Given the description of an element on the screen output the (x, y) to click on. 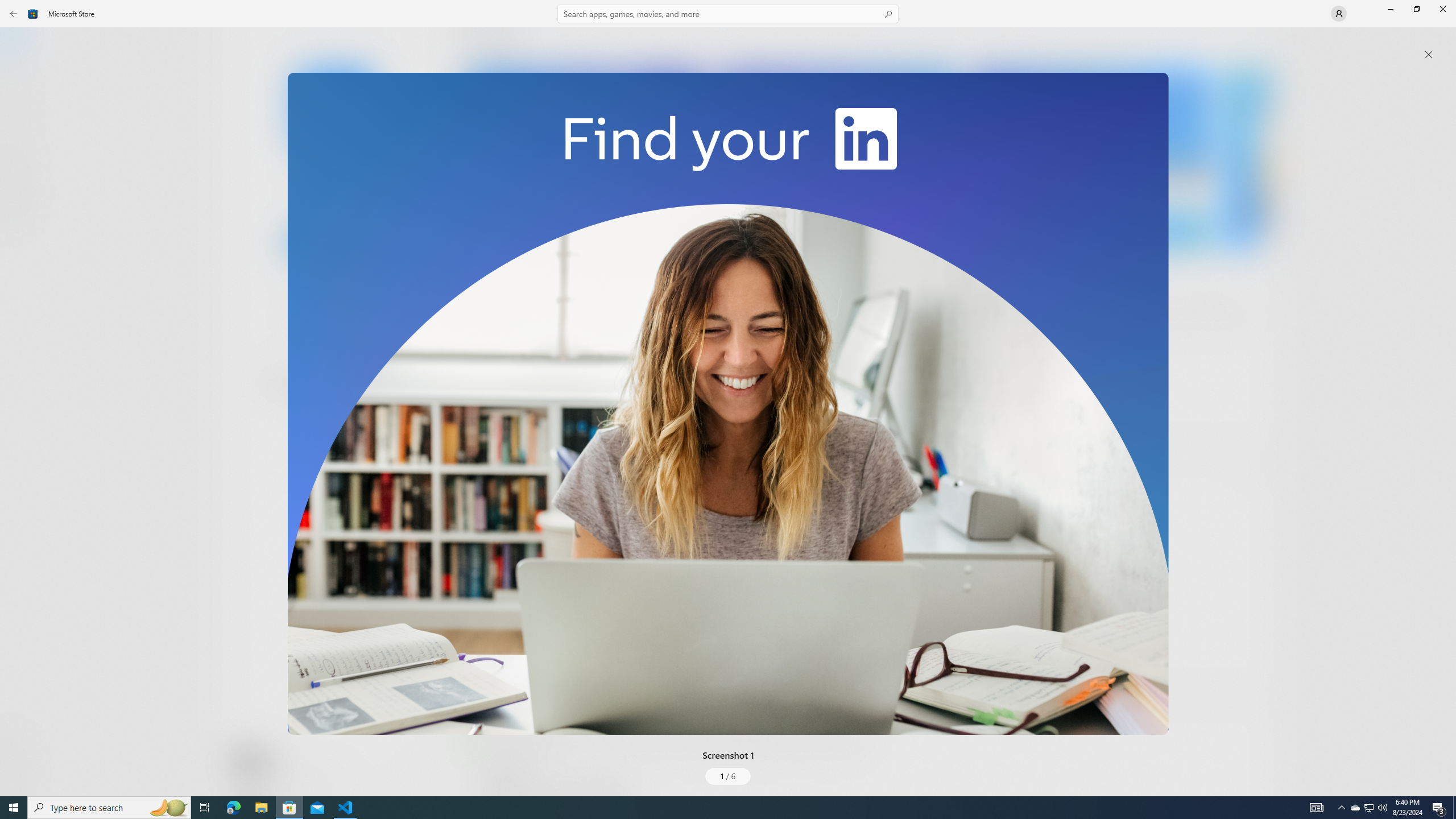
Screenshot 4 (1247, 158)
